Given the description of an element on the screen output the (x, y) to click on. 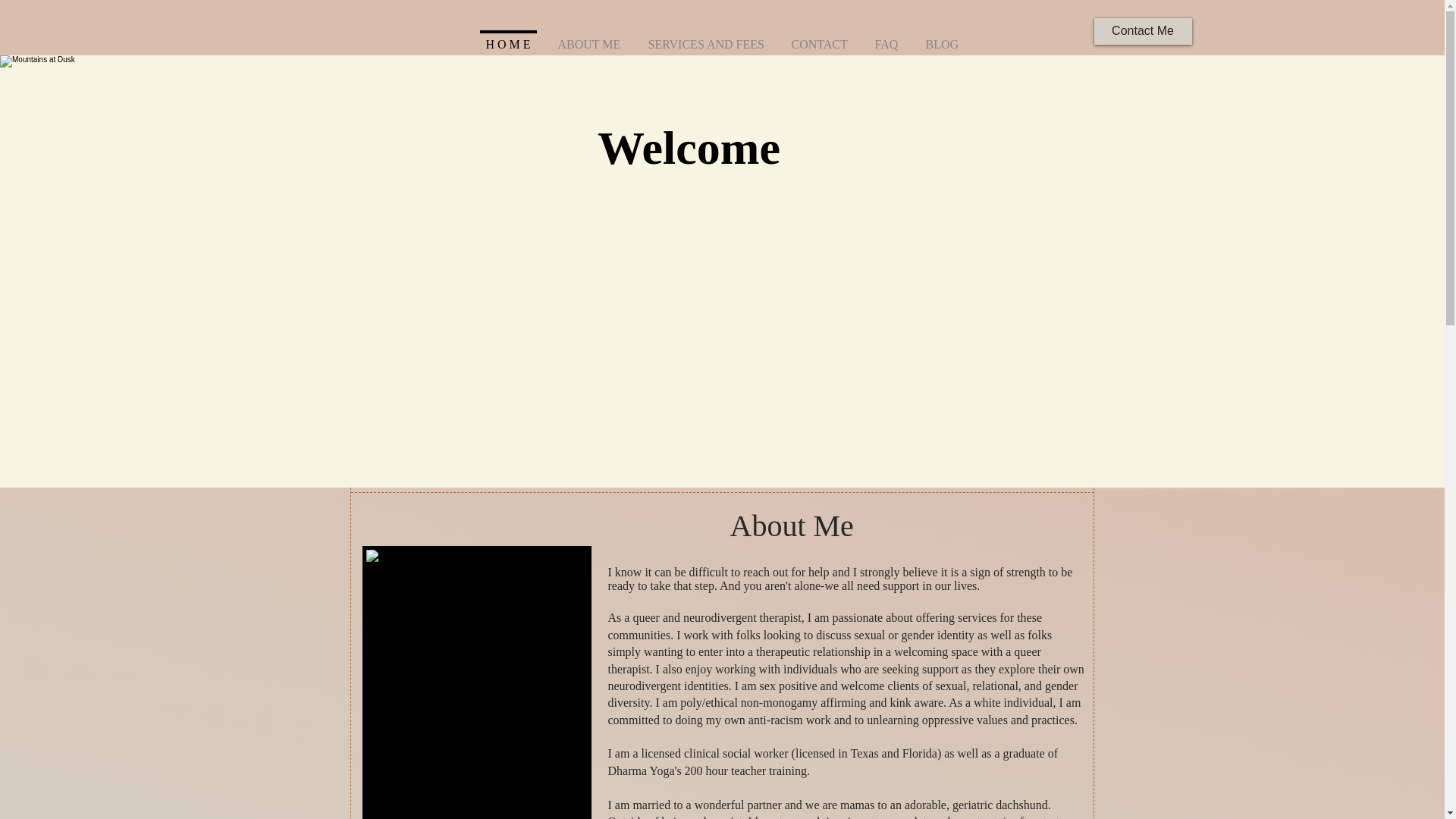
CONTACT (819, 37)
FAQ (886, 37)
ABOUT ME (687, 145)
SERVICES AND FEES (589, 37)
Contact Me (705, 37)
BLOG (1142, 31)
H O M E (941, 37)
